Given the description of an element on the screen output the (x, y) to click on. 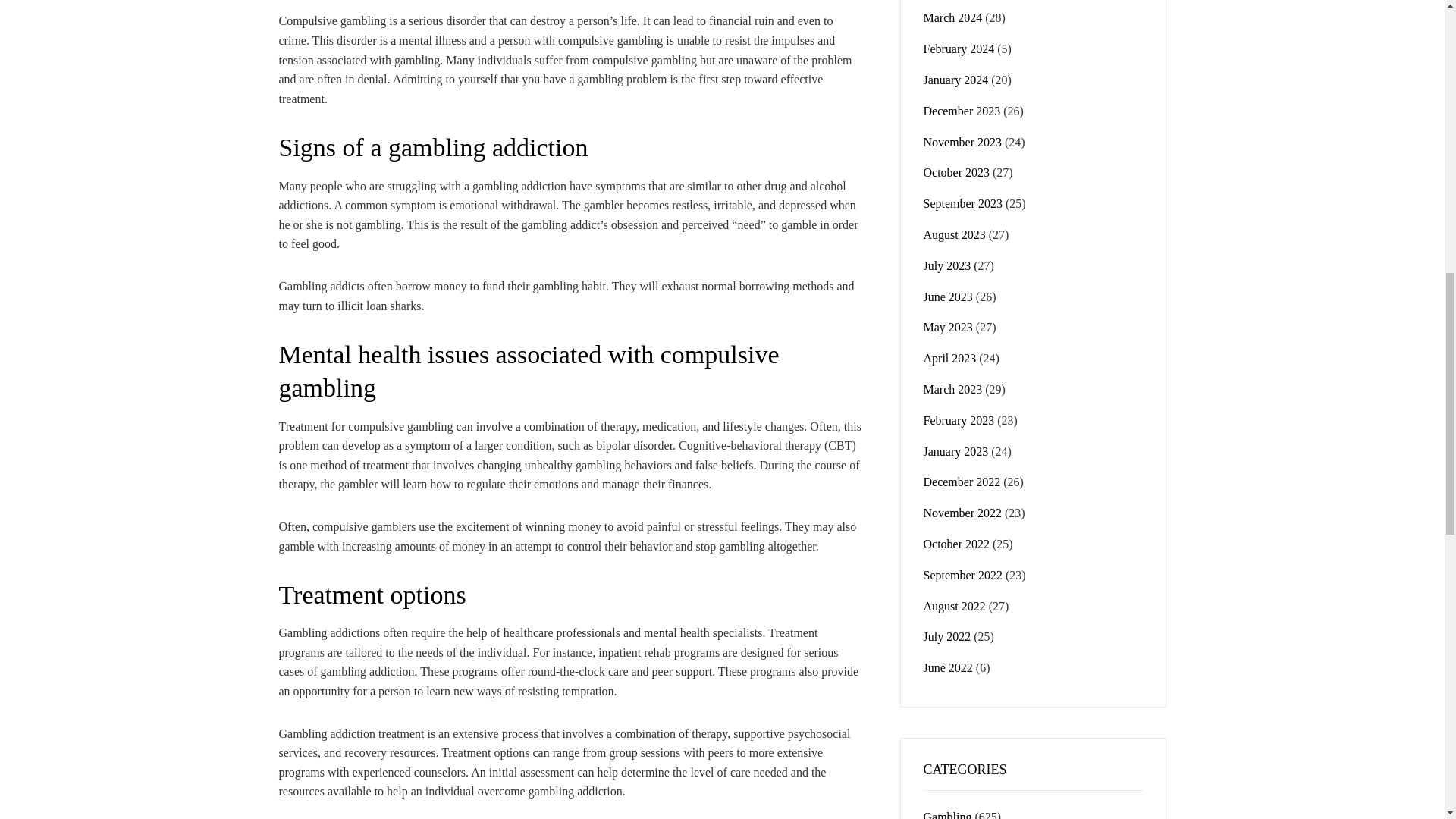
June 2023 (947, 296)
October 2023 (956, 172)
March 2024 (952, 17)
February 2024 (958, 48)
September 2023 (963, 203)
July 2023 (947, 265)
November 2023 (963, 141)
March 2023 (952, 389)
August 2023 (954, 234)
December 2023 (962, 110)
